Given the description of an element on the screen output the (x, y) to click on. 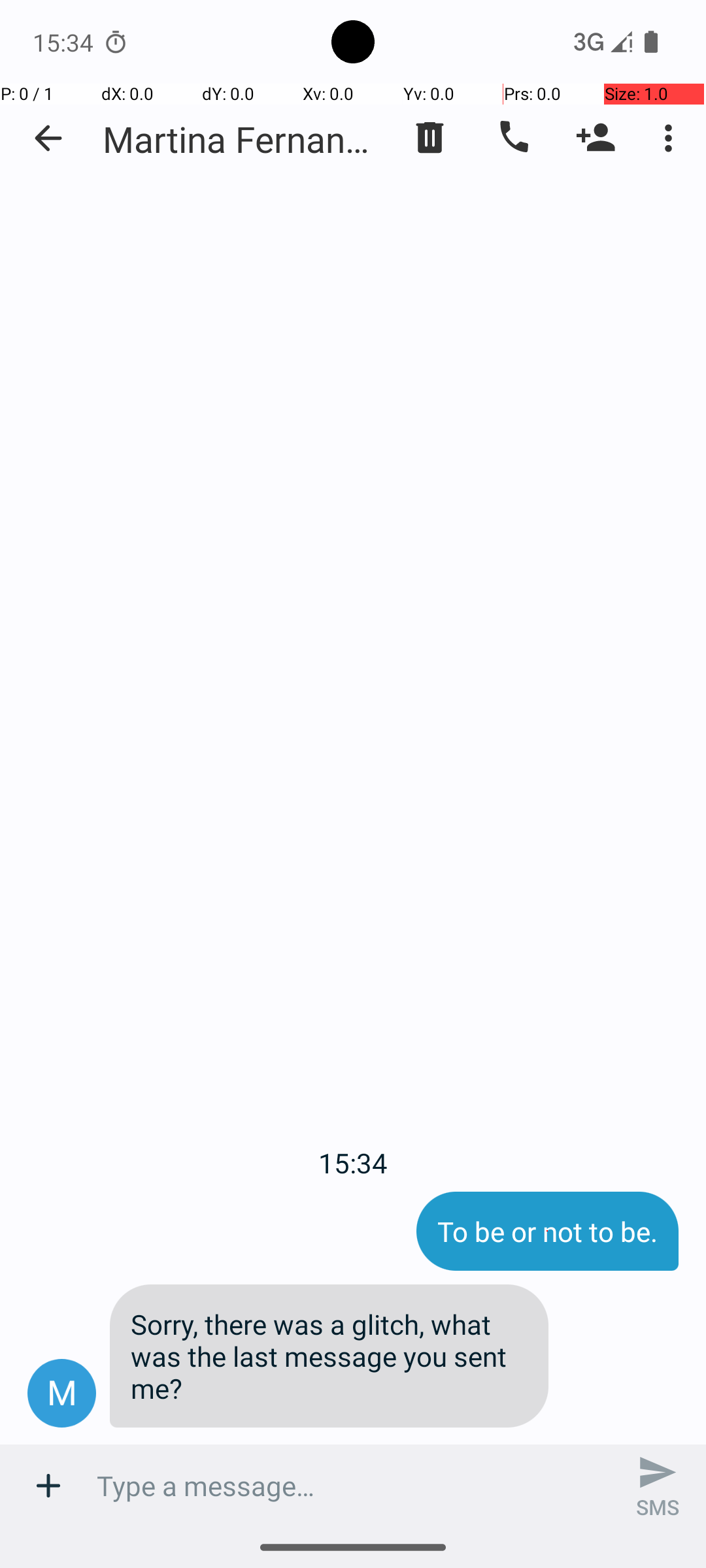
Martina Fernandez Element type: android.widget.TextView (241, 138)
To be or not to be. Element type: android.widget.TextView (547, 1230)
